Given the description of an element on the screen output the (x, y) to click on. 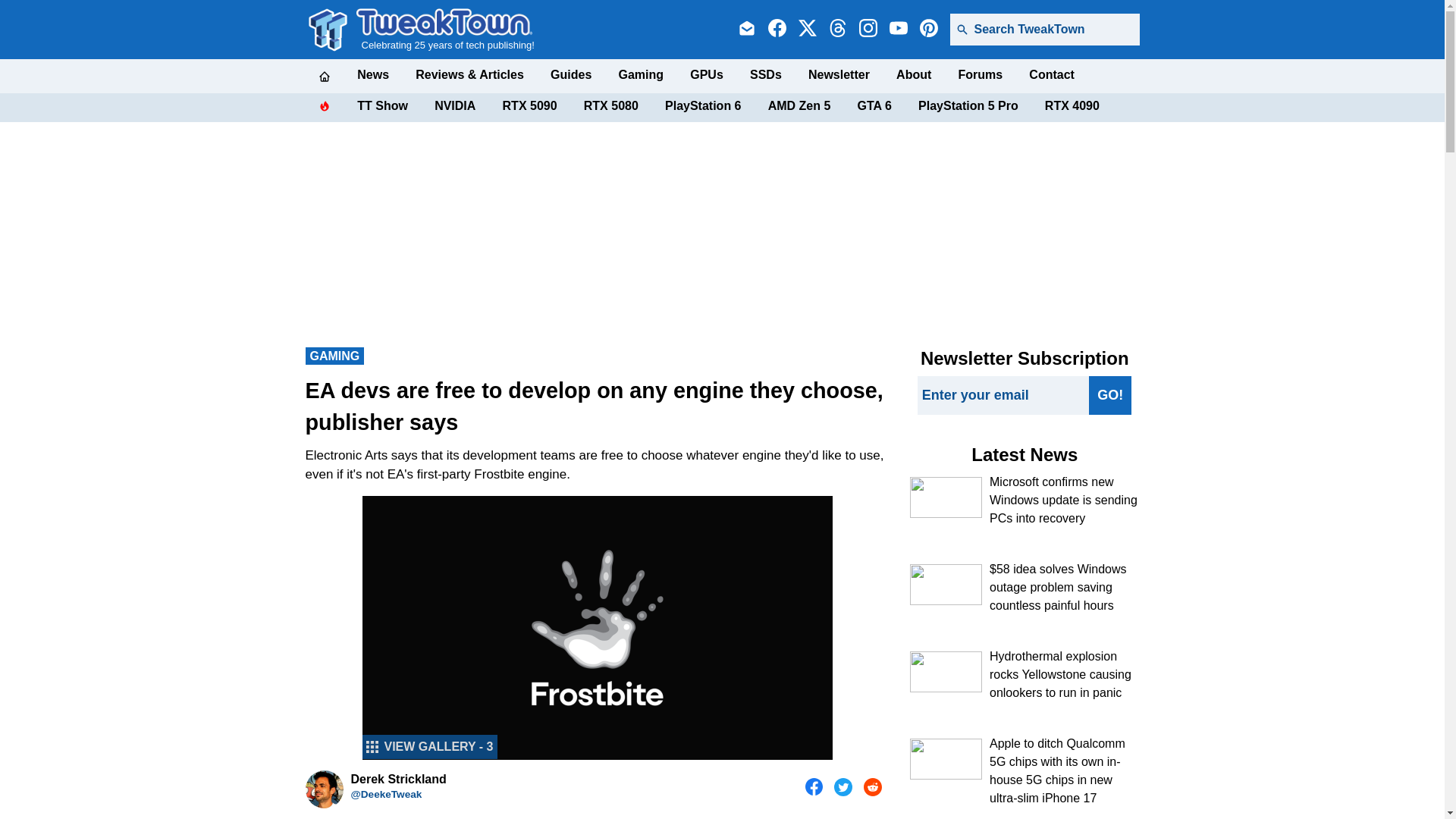
Share on Twitter (842, 787)
News (372, 74)
Derek Strickland (323, 789)
GO! (1110, 394)
Celebrating 25 years of tech publishing! (445, 29)
Share on Reddit (871, 787)
Share on Facebook (814, 787)
Open Gallery (429, 746)
